Given the description of an element on the screen output the (x, y) to click on. 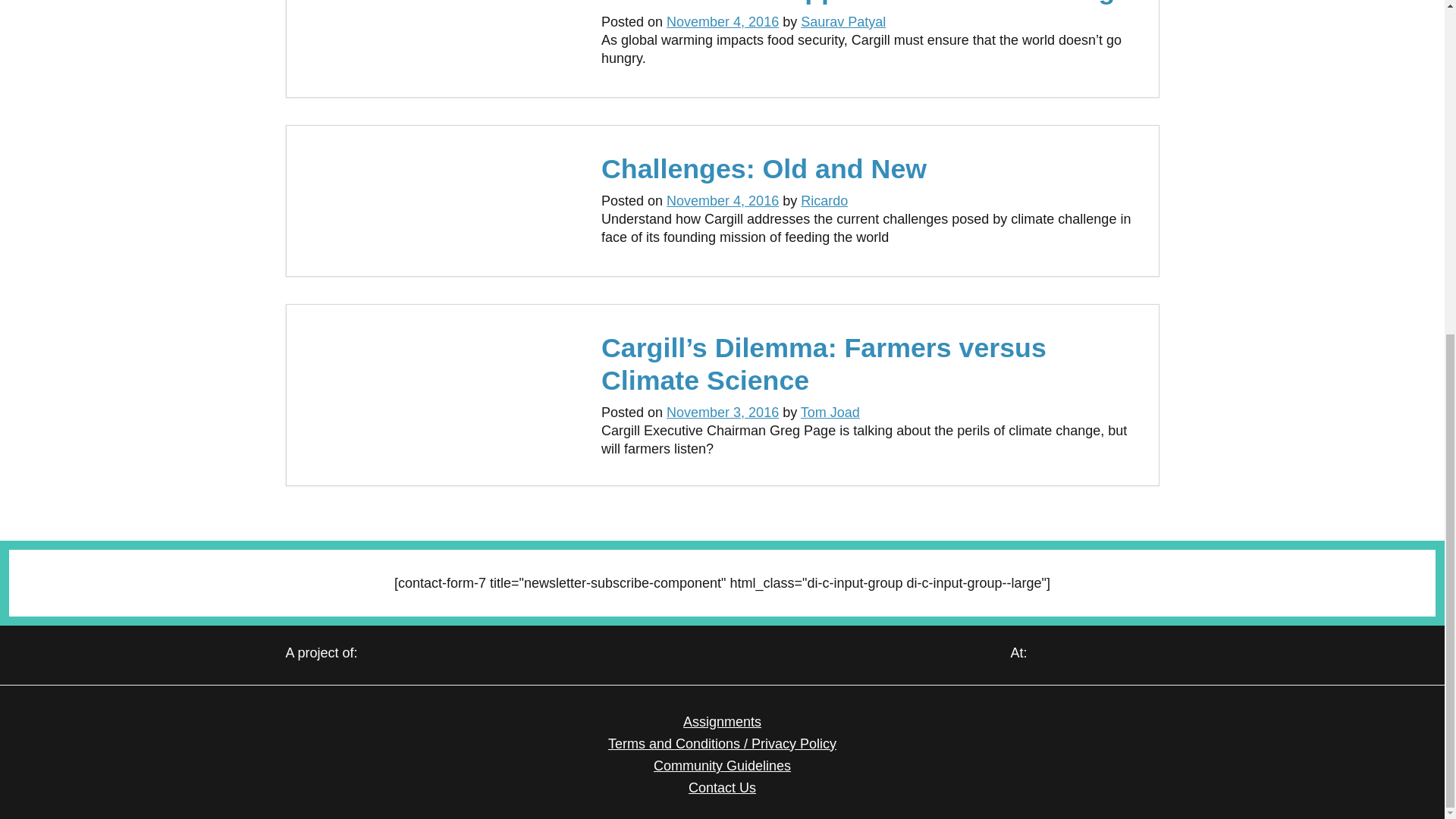
November 4, 2016 (722, 21)
Assignments (721, 721)
Contact Us (721, 787)
Tom Joad (830, 412)
November 4, 2016 (722, 200)
Challenges: Old and New (763, 168)
Saurav Patyal (842, 21)
Community Guidelines (721, 765)
Ricardo (823, 200)
